Given the description of an element on the screen output the (x, y) to click on. 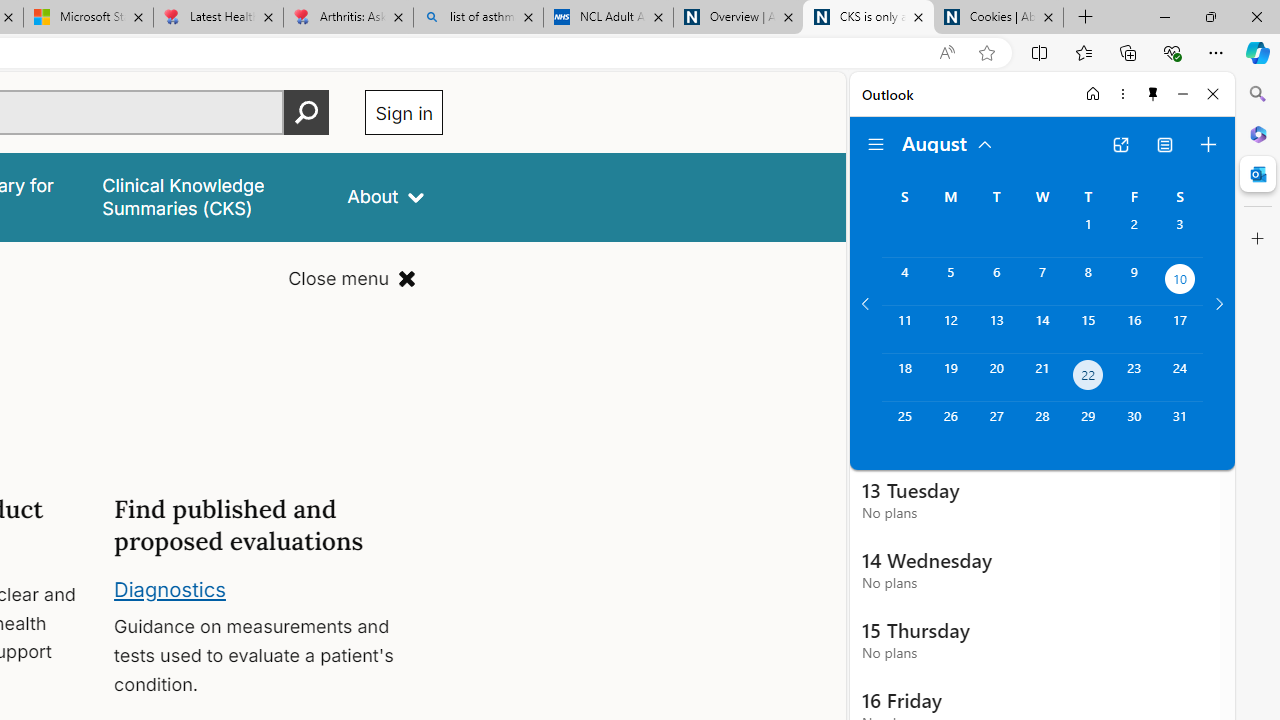
Sunday, August 18, 2024.  (904, 377)
Friday, August 9, 2024.  (1134, 281)
About (386, 196)
Open in new tab (1120, 144)
Diagnostics (169, 588)
August (948, 141)
Friday, August 2, 2024.  (1134, 233)
Saturday, August 24, 2024.  (1180, 377)
View Switcher. Current view is Agenda view (1165, 144)
Wednesday, August 21, 2024.  (1042, 377)
More options (1122, 93)
